Given the description of an element on the screen output the (x, y) to click on. 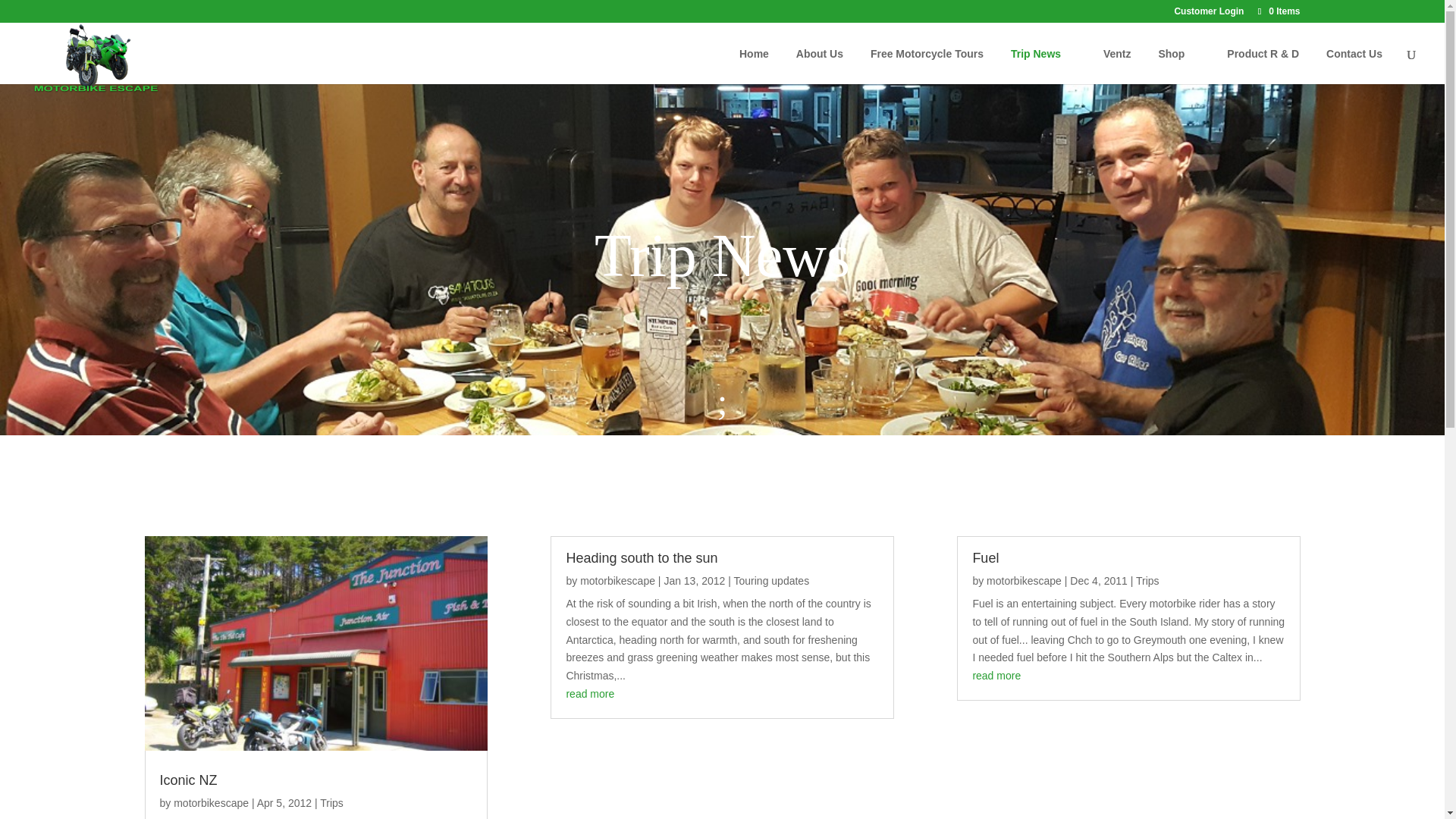
Customer Login (1208, 14)
About Us (819, 53)
Posts by motorbikescape (210, 802)
Free Motorcycle Tours (927, 53)
Trips (331, 802)
Posts by motorbikescape (1024, 580)
Trip News (1042, 53)
motorbikescape (617, 580)
Contact Us (1353, 53)
Posts by motorbikescape (617, 580)
Iconic NZ (187, 780)
0 Items (1277, 10)
Home (753, 53)
Shop (1178, 53)
motorbikescape (210, 802)
